Given the description of an element on the screen output the (x, y) to click on. 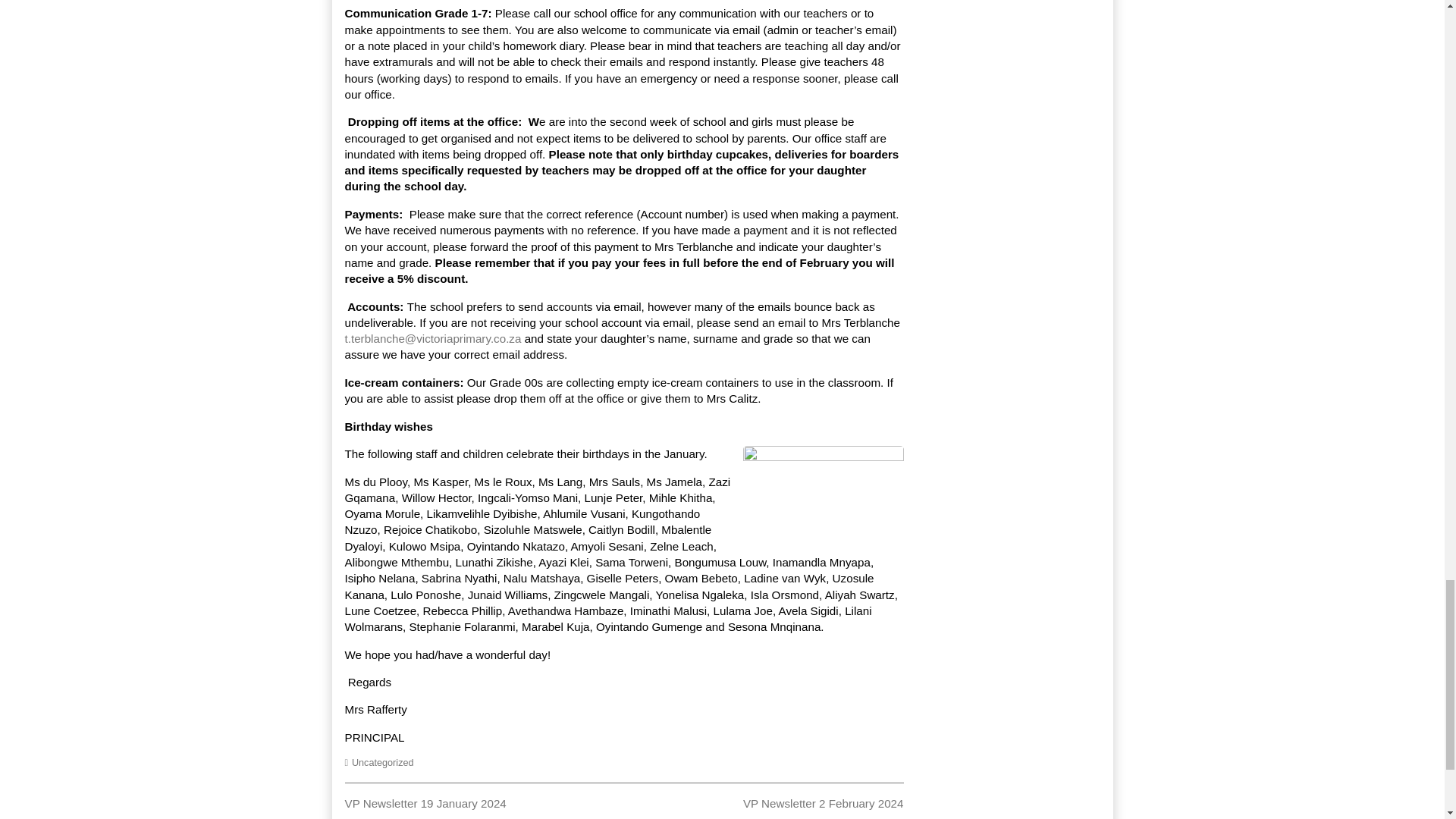
Uncategorized (382, 762)
